Given the description of an element on the screen output the (x, y) to click on. 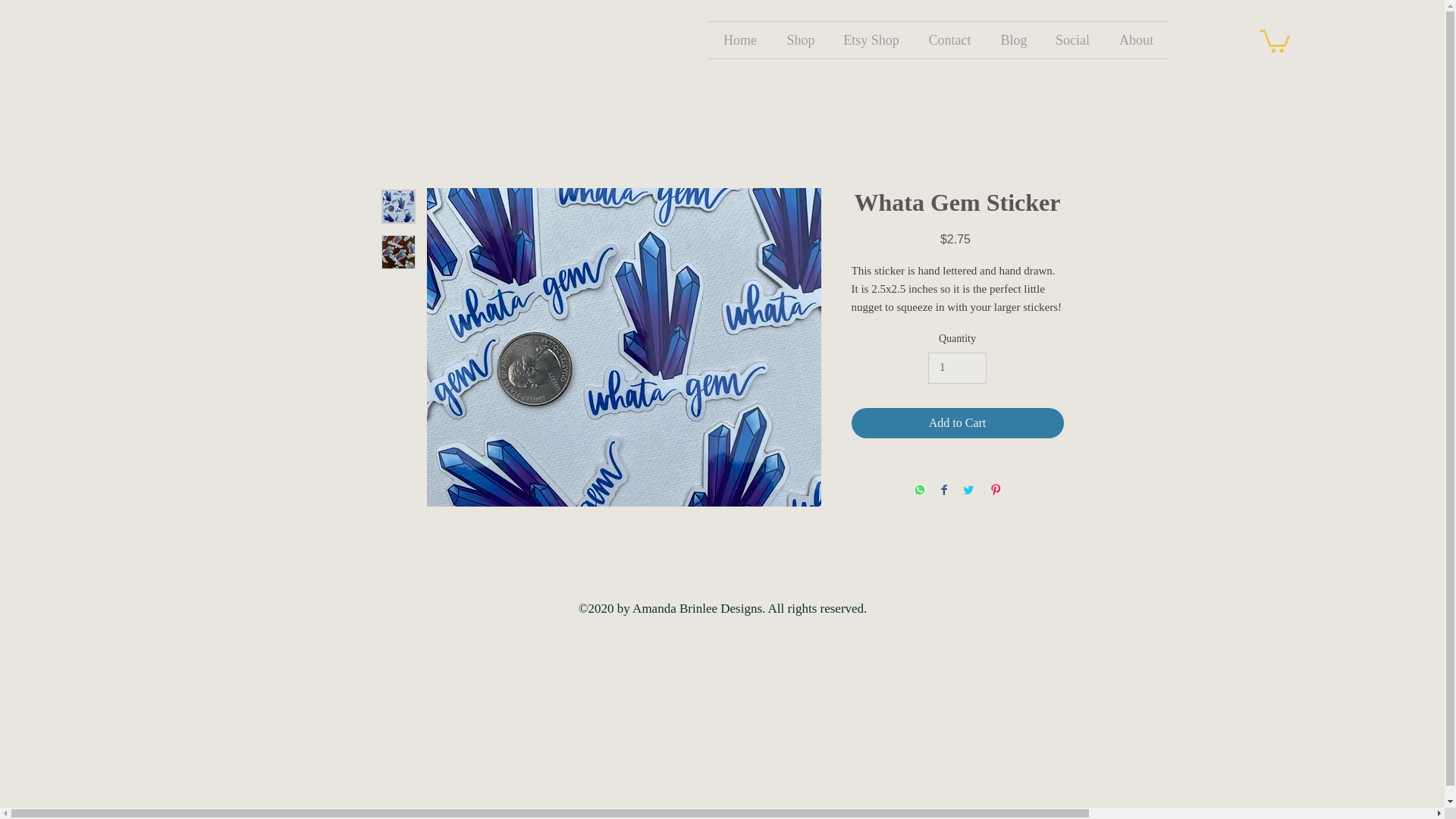
1 (956, 368)
Home (739, 40)
Blog (1014, 40)
Contact (949, 40)
Shop (800, 40)
About (1136, 40)
Social (1072, 40)
Etsy Shop (870, 40)
Add to Cart (956, 422)
Home (1450, 61)
